Given the description of an element on the screen output the (x, y) to click on. 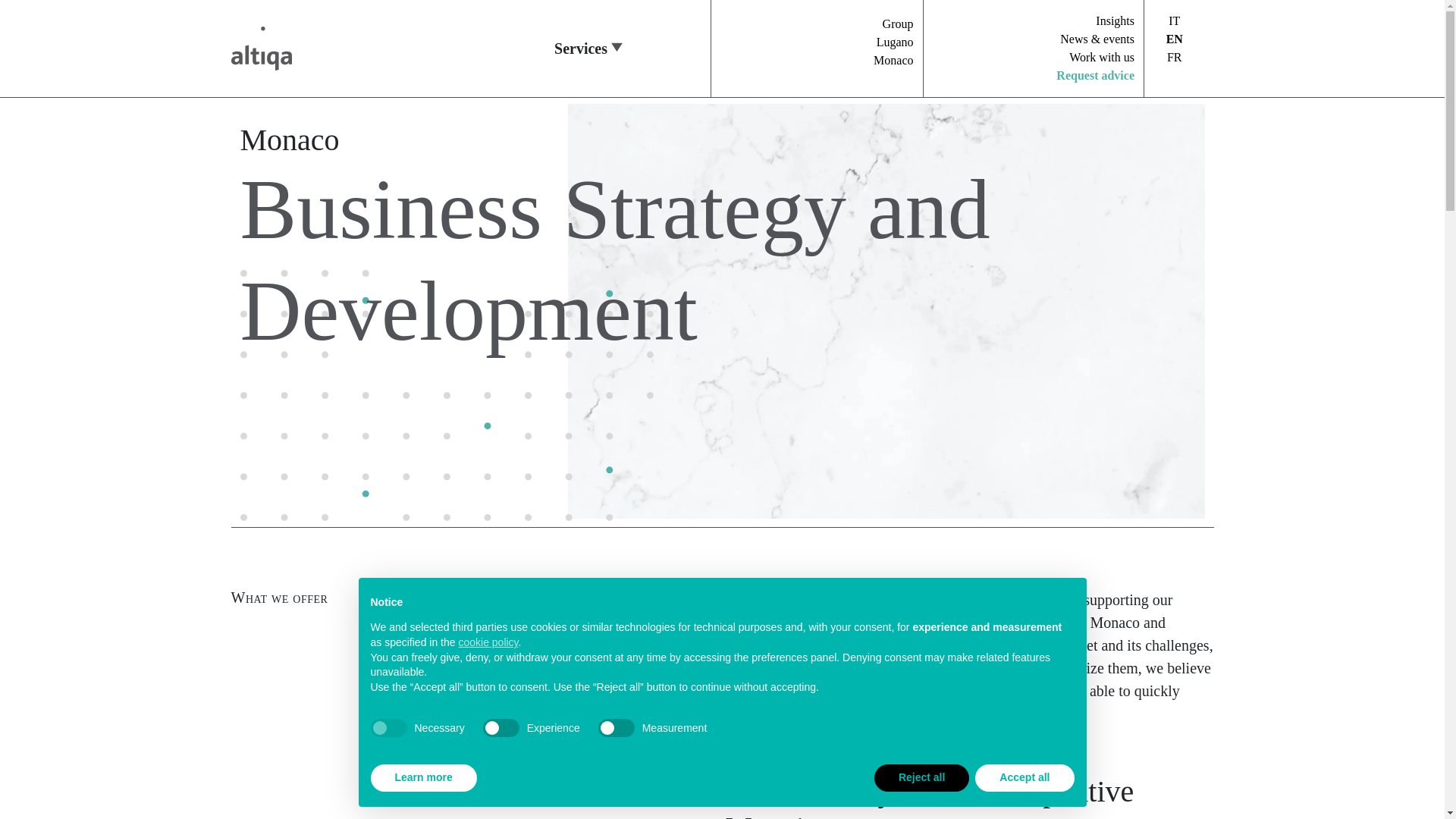
Monaco (892, 60)
Work with us (1101, 56)
true (387, 728)
FR (1174, 56)
false (616, 728)
Group (898, 23)
Request advice (1095, 74)
Lugano (895, 42)
false (501, 728)
Insights (1115, 20)
EN (1174, 38)
